Given the description of an element on the screen output the (x, y) to click on. 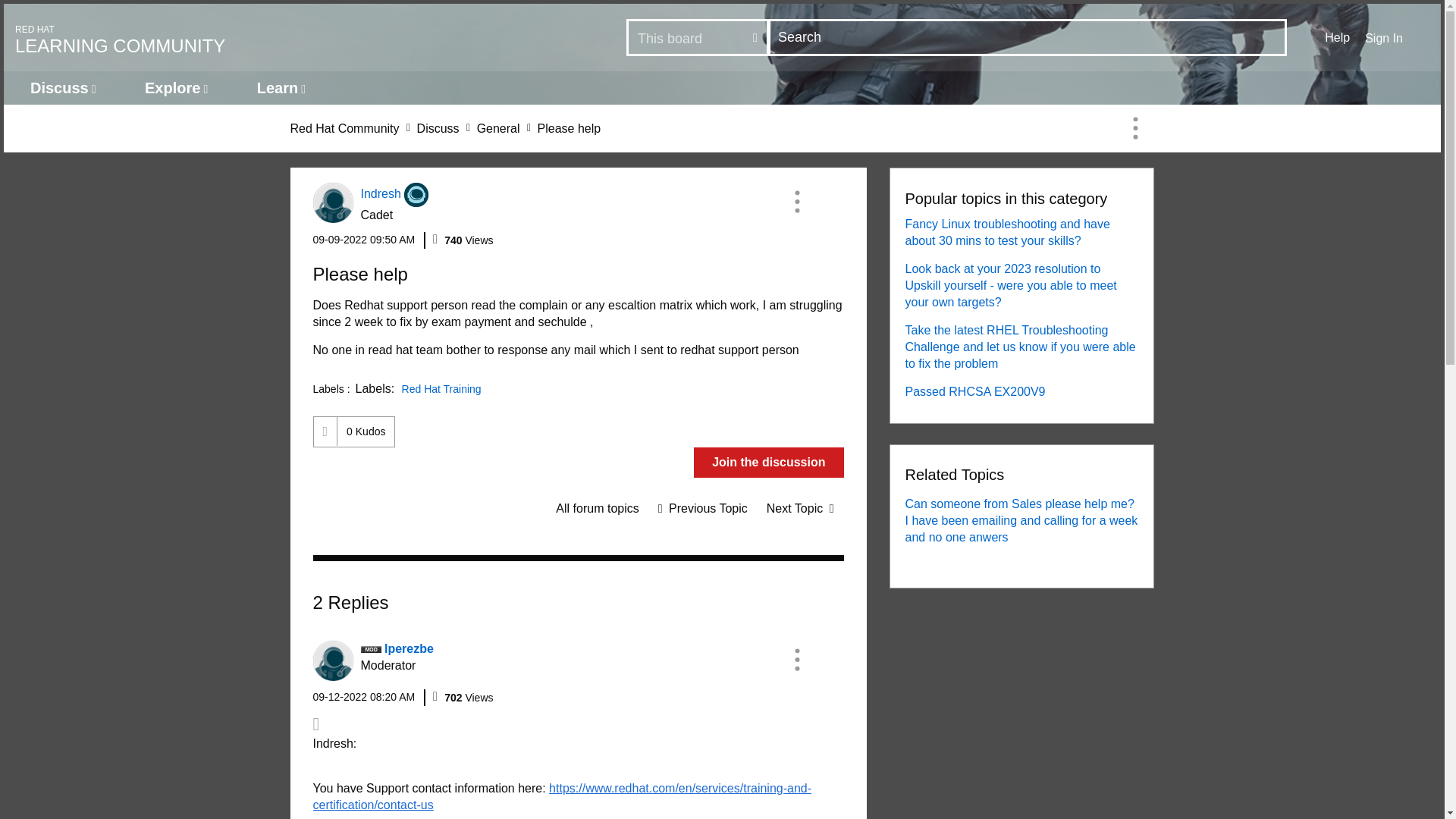
Search (1027, 37)
General (498, 128)
Help (269, 37)
Show option menu (1336, 36)
Search Granularity (1135, 127)
Red Hat Community (697, 37)
Posted on (343, 128)
Explore (363, 239)
Discuss (176, 87)
Indresh (438, 128)
Search (332, 202)
Cadet (17, 18)
The total number of kudos this post has received. (416, 194)
Click here to give kudos to this post. (365, 430)
